Given the description of an element on the screen output the (x, y) to click on. 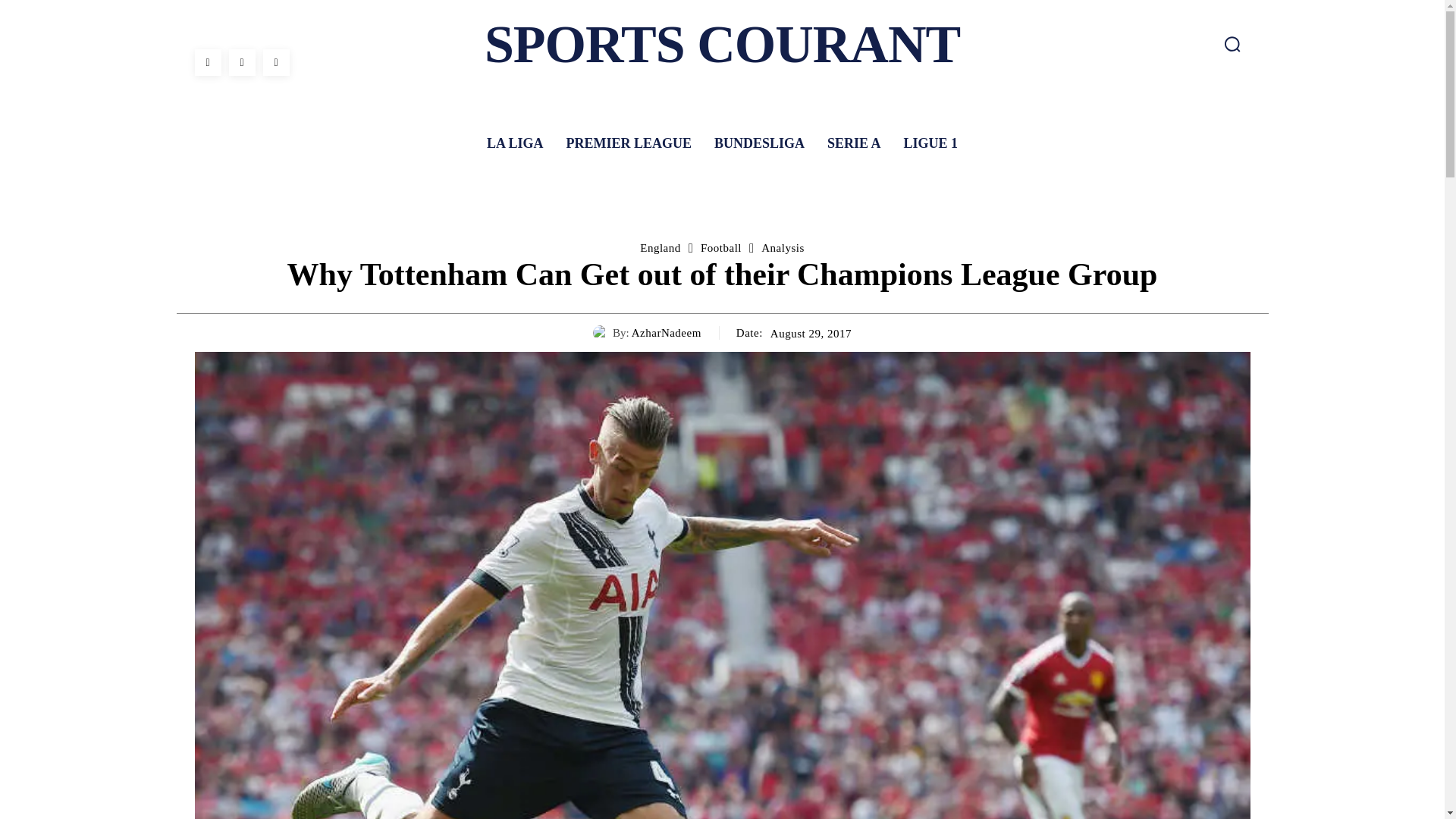
Football (720, 247)
England (660, 247)
LIGUE 1 (931, 143)
AzharNadeem (602, 332)
BUNDESLIGA (759, 143)
Analysis (783, 247)
Flipboard (242, 62)
SERIE A (853, 143)
PREMIER LEAGUE (627, 143)
Twitter (275, 62)
